Given the description of an element on the screen output the (x, y) to click on. 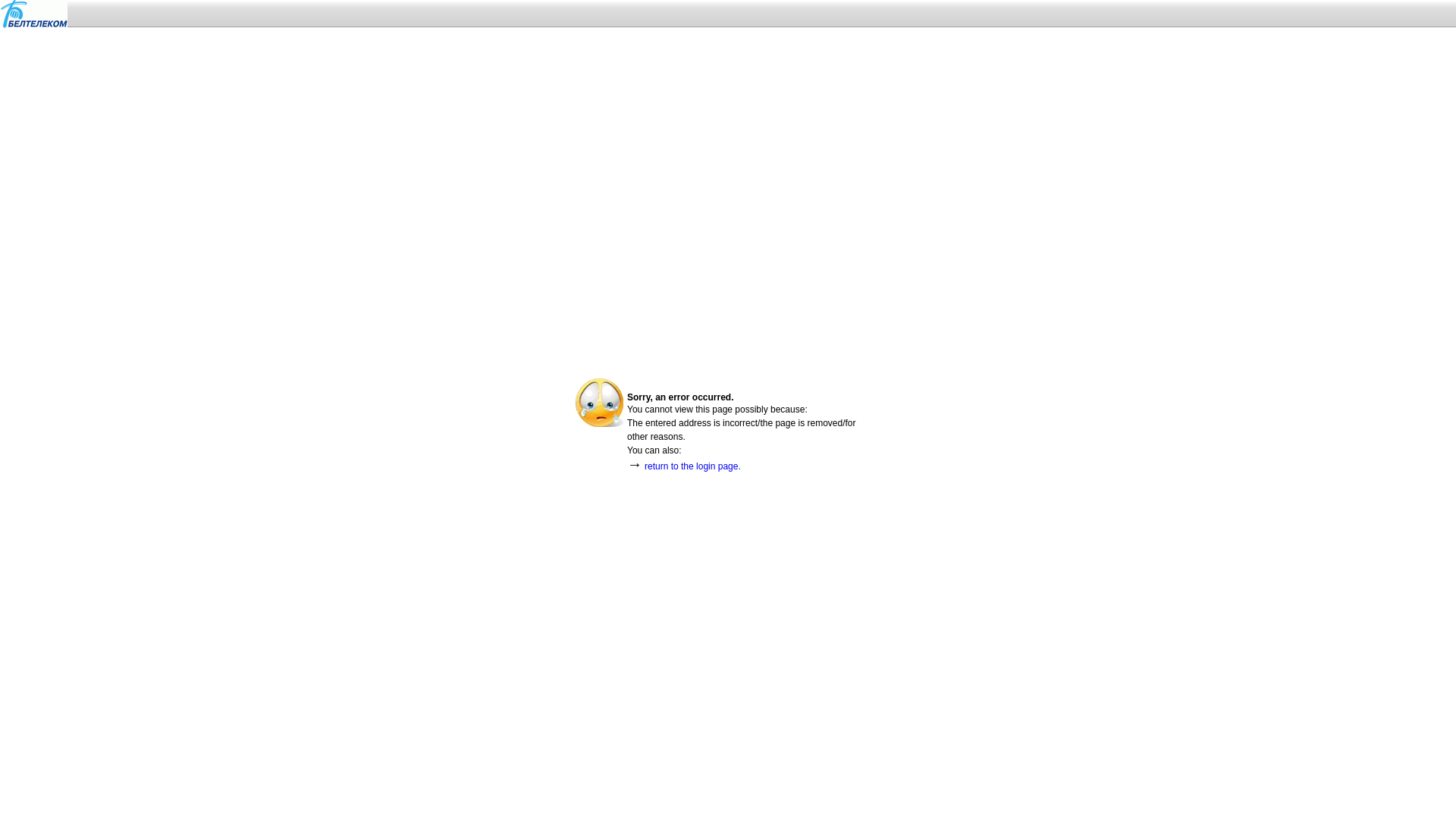
return to the login page. Element type: text (692, 466)
